Given the description of an element on the screen output the (x, y) to click on. 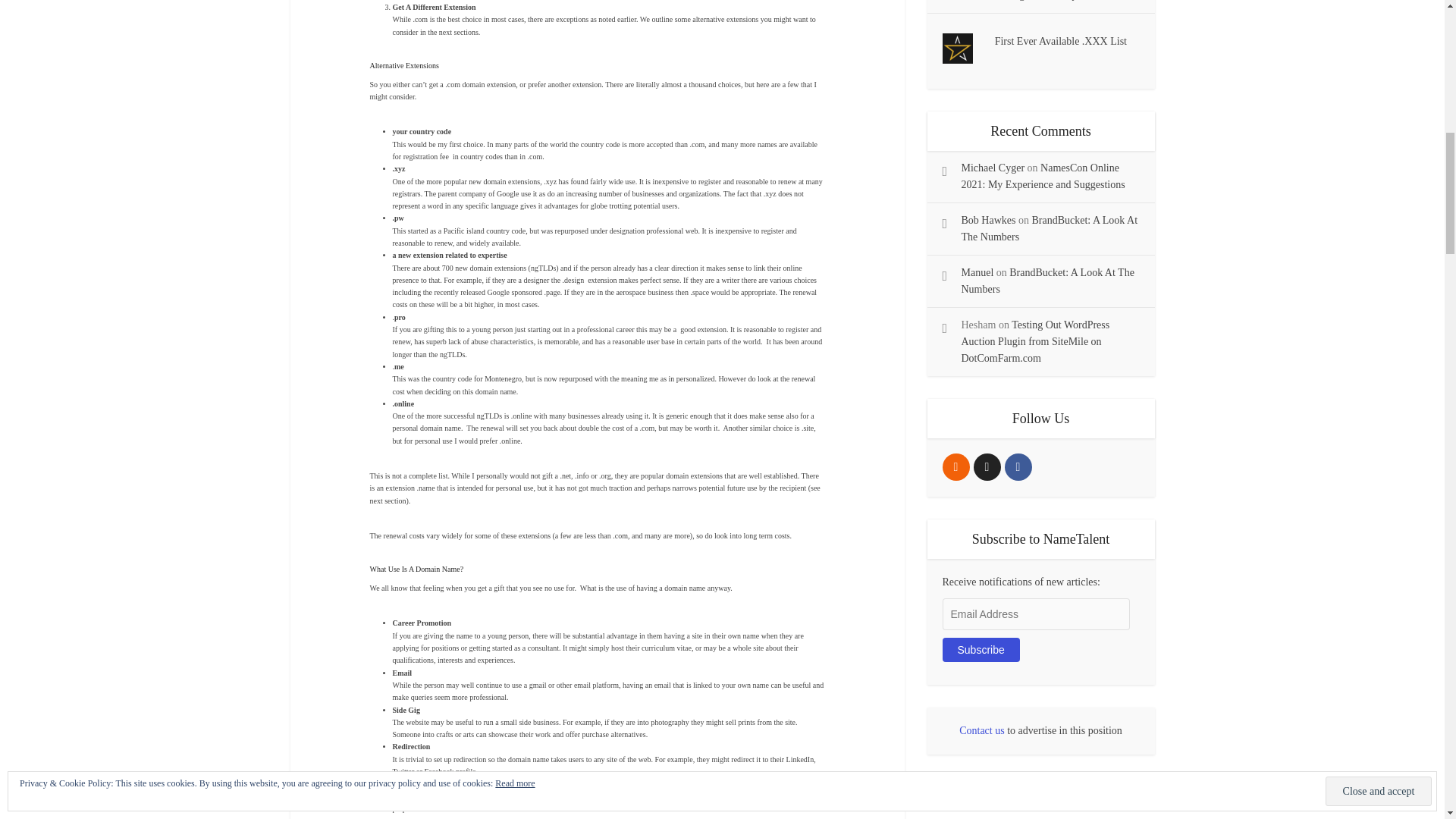
First Ever Available .XXX List (1060, 41)
